Given the description of an element on the screen output the (x, y) to click on. 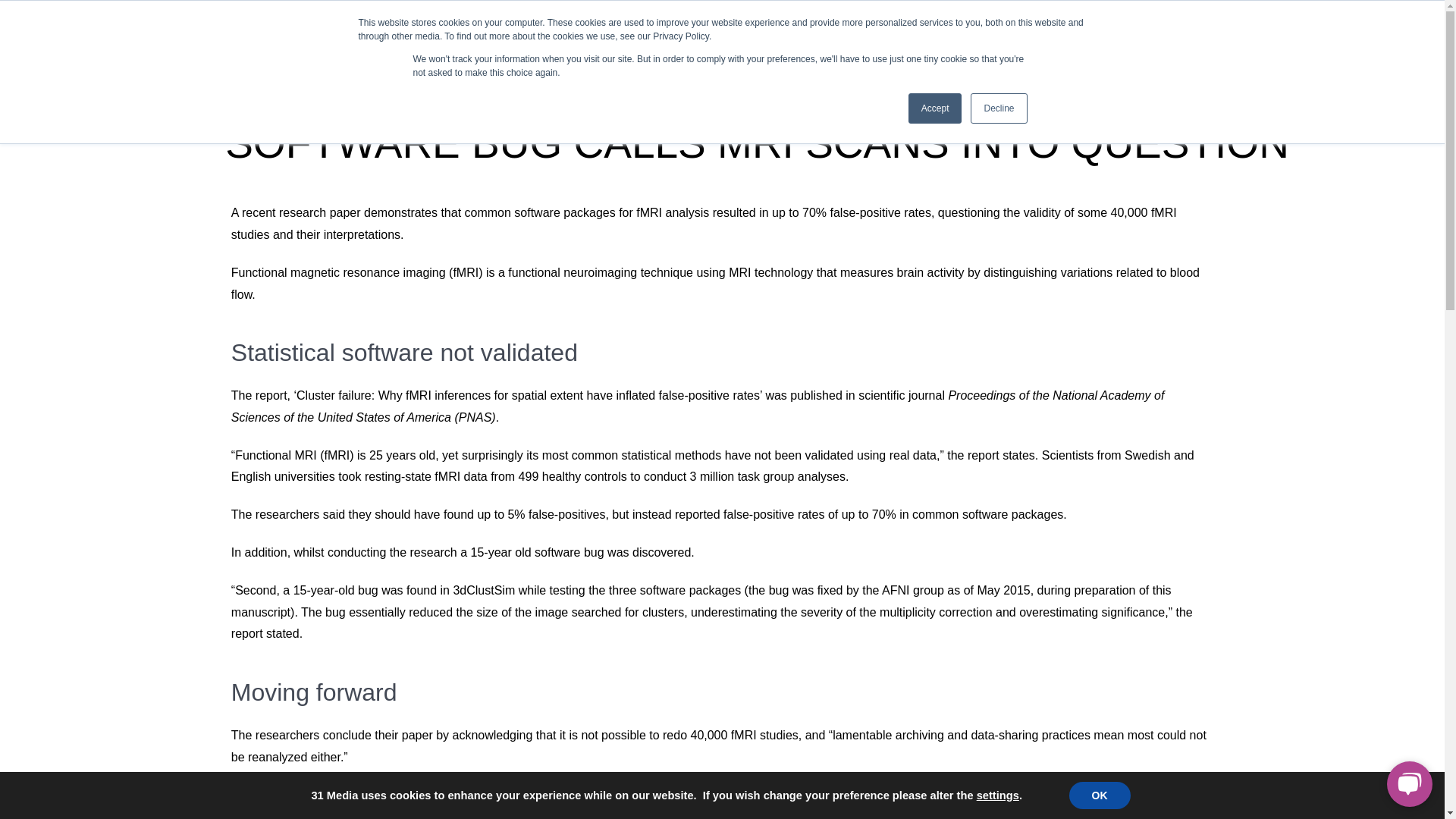
Our Products (982, 64)
Sponsor Login (1197, 18)
Decline (998, 108)
News (807, 64)
Our Sites (854, 18)
Home (743, 64)
Categories (884, 64)
Related Products (755, 18)
Accept (935, 108)
